Given the description of an element on the screen output the (x, y) to click on. 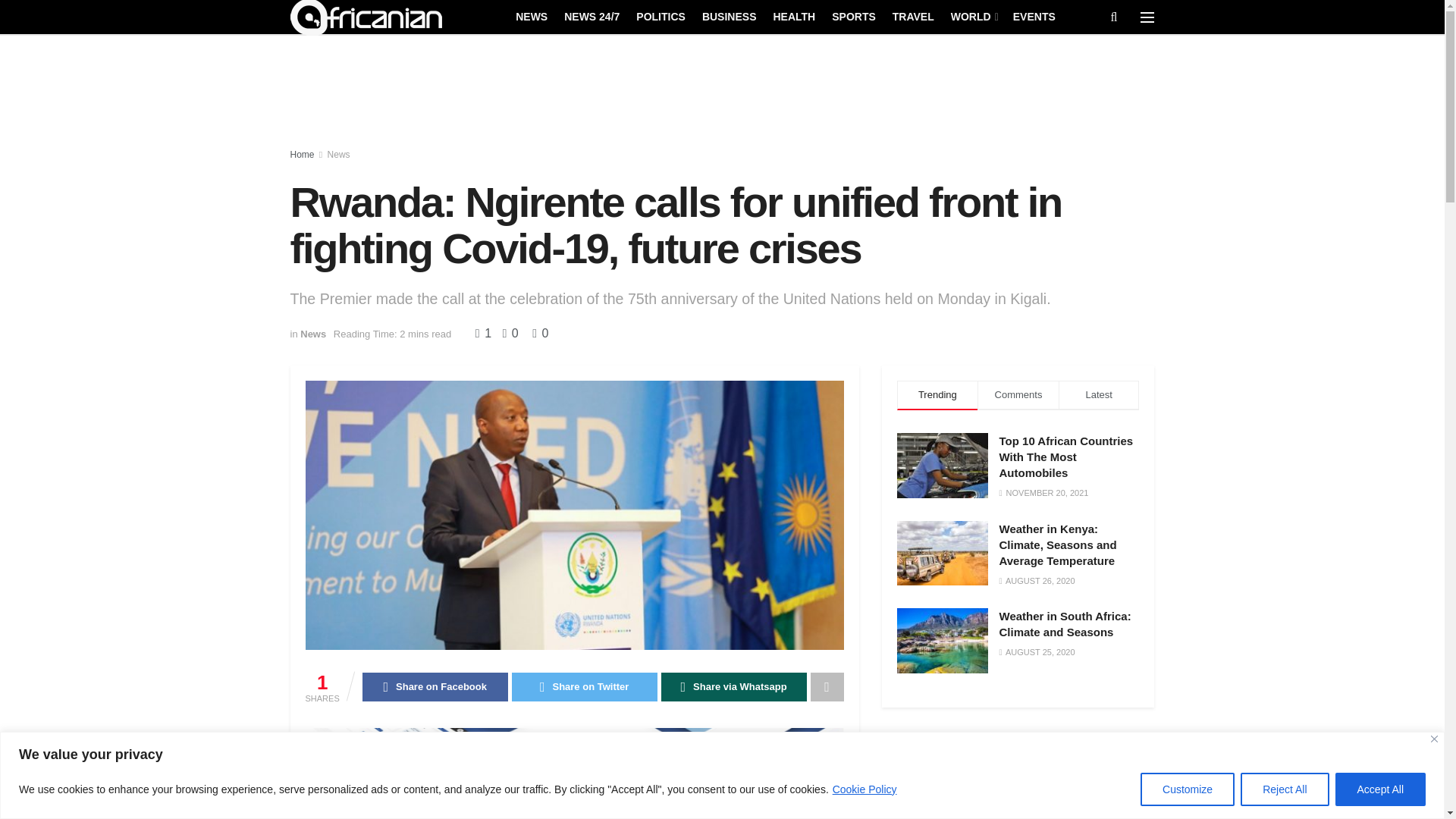
HEALTH (794, 16)
Reject All (1283, 788)
Cookie Policy (864, 789)
NEWS (531, 16)
Accept All (1380, 788)
News (338, 154)
WORLD (972, 16)
Advertisement (1017, 774)
TRAVEL (913, 16)
SPORTS (853, 16)
Advertisement (722, 92)
EVENTS (1034, 16)
BUSINESS (729, 16)
Home (301, 154)
POLITICS (660, 16)
